Given the description of an element on the screen output the (x, y) to click on. 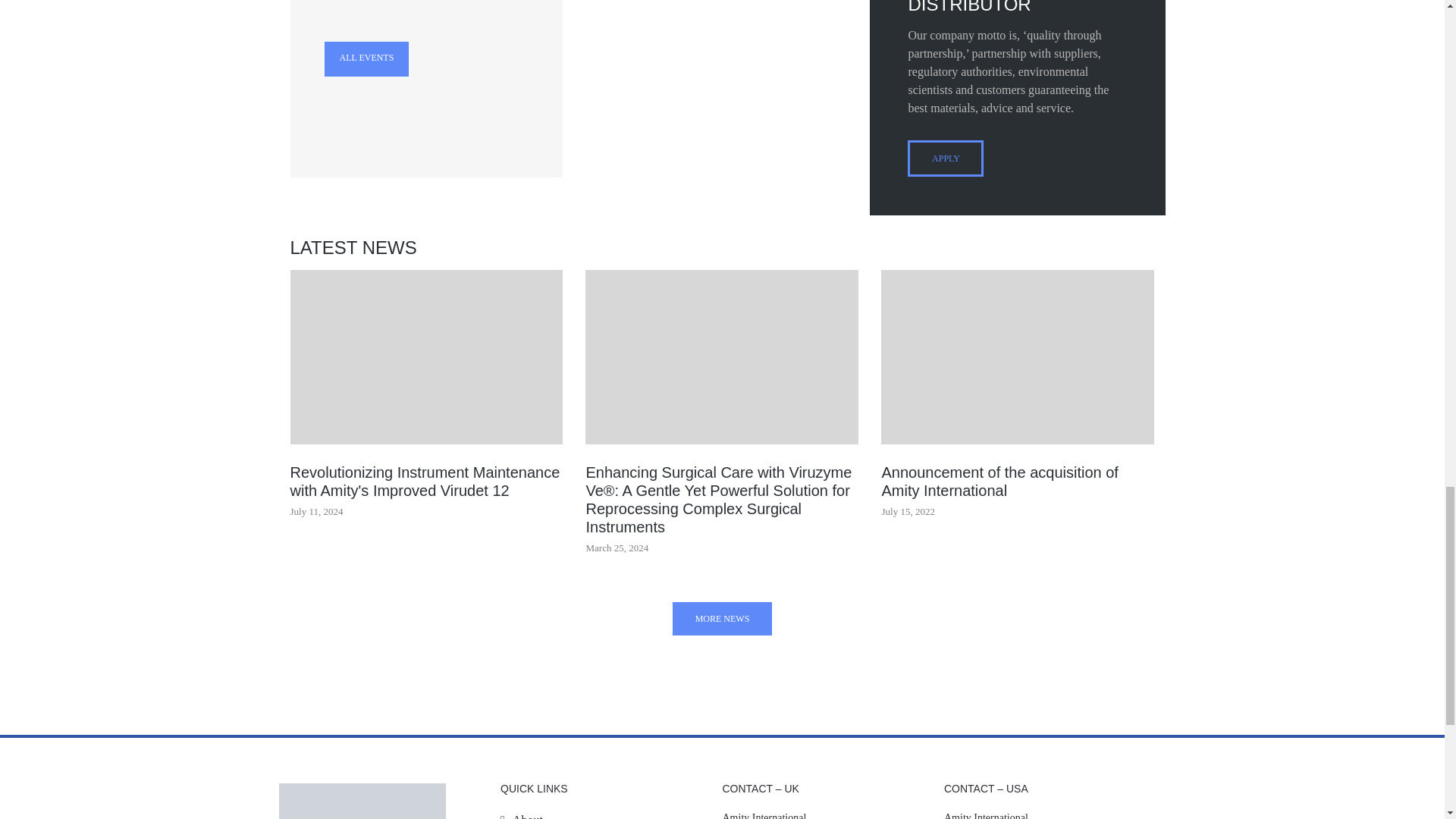
Announcement of the acquisition of Amity International (1017, 357)
APPLY (945, 158)
Announcement of the acquisition of Amity International (1017, 481)
logo (362, 800)
ALL EVENTS (366, 58)
